Given the description of an element on the screen output the (x, y) to click on. 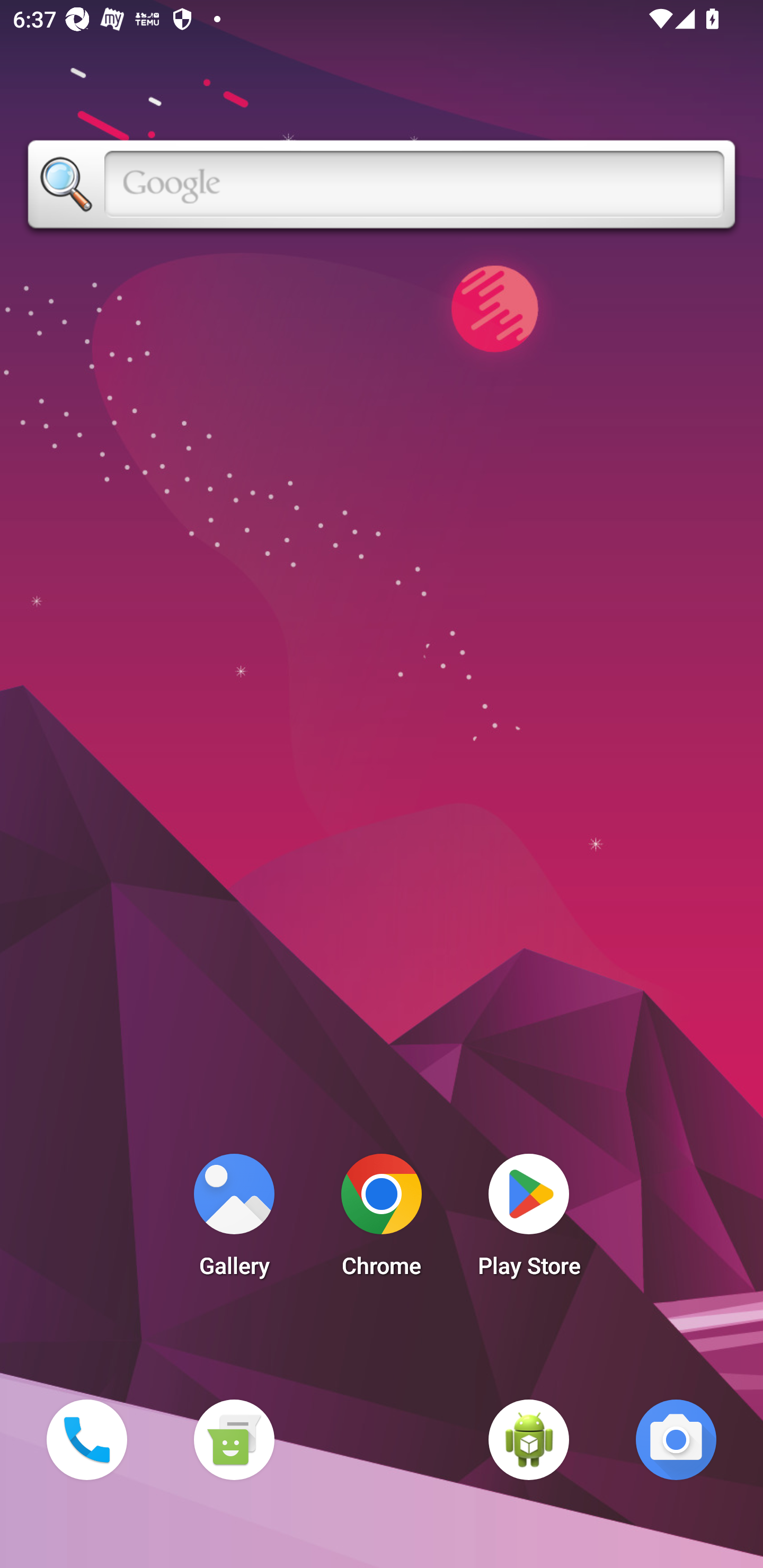
Gallery (233, 1220)
Chrome (381, 1220)
Play Store (528, 1220)
Phone (86, 1439)
Messaging (233, 1439)
WebView Browser Tester (528, 1439)
Camera (676, 1439)
